Given the description of an element on the screen output the (x, y) to click on. 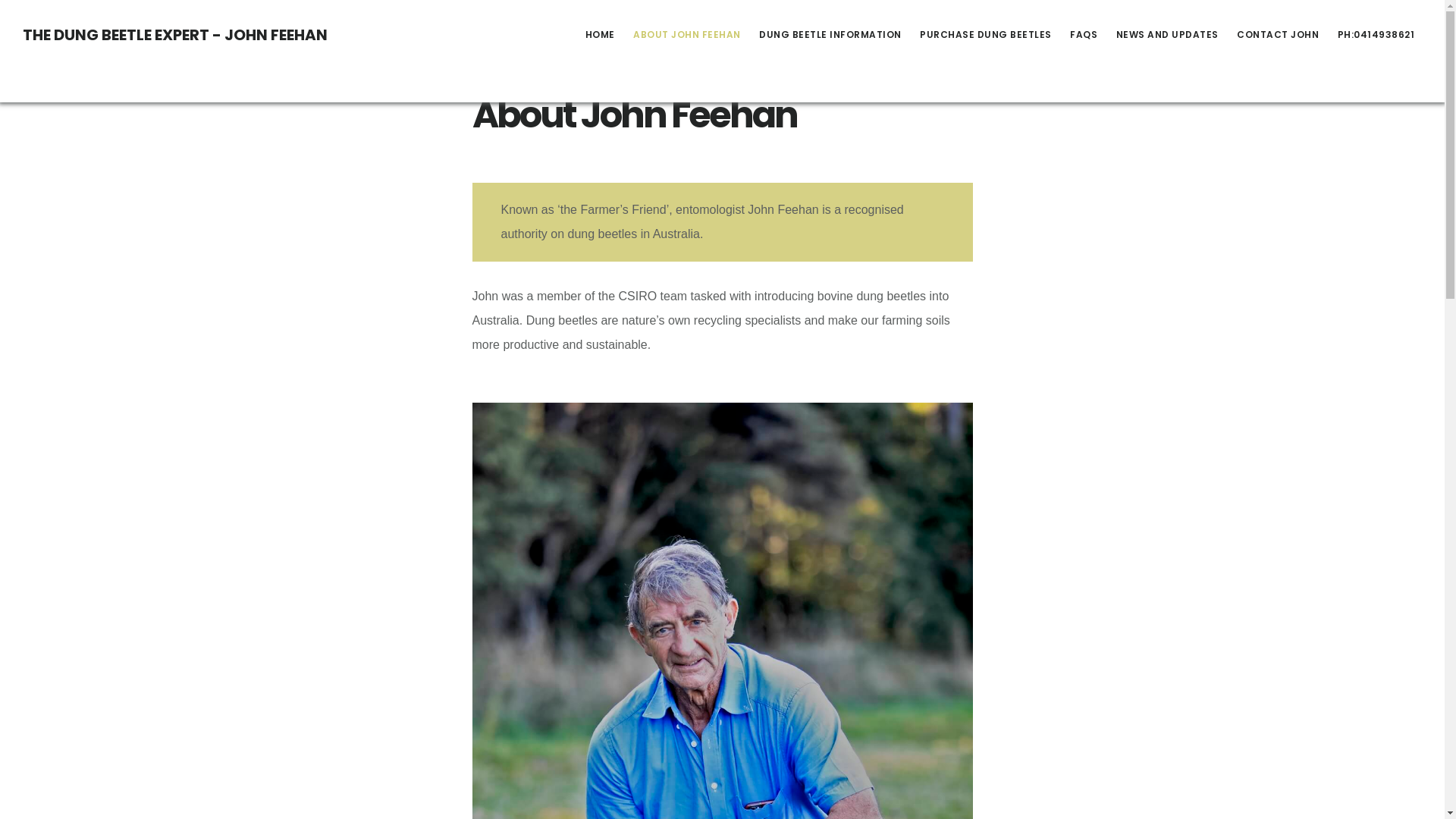
PH:0414938621 Element type: text (1376, 34)
NEWS AND UPDATES Element type: text (1167, 34)
PURCHASE DUNG BEETLES Element type: text (985, 34)
Skip to main content Element type: text (0, 0)
THE DUNG BEETLE EXPERT - JOHN FEEHAN Element type: text (174, 34)
Home Element type: text (702, 42)
ABOUT JOHN FEEHAN Element type: text (686, 34)
HOME Element type: text (599, 34)
DUNG BEETLE INFORMATION Element type: text (830, 34)
CONTACT JOHN Element type: text (1277, 34)
FAQS Element type: text (1083, 34)
